Given the description of an element on the screen output the (x, y) to click on. 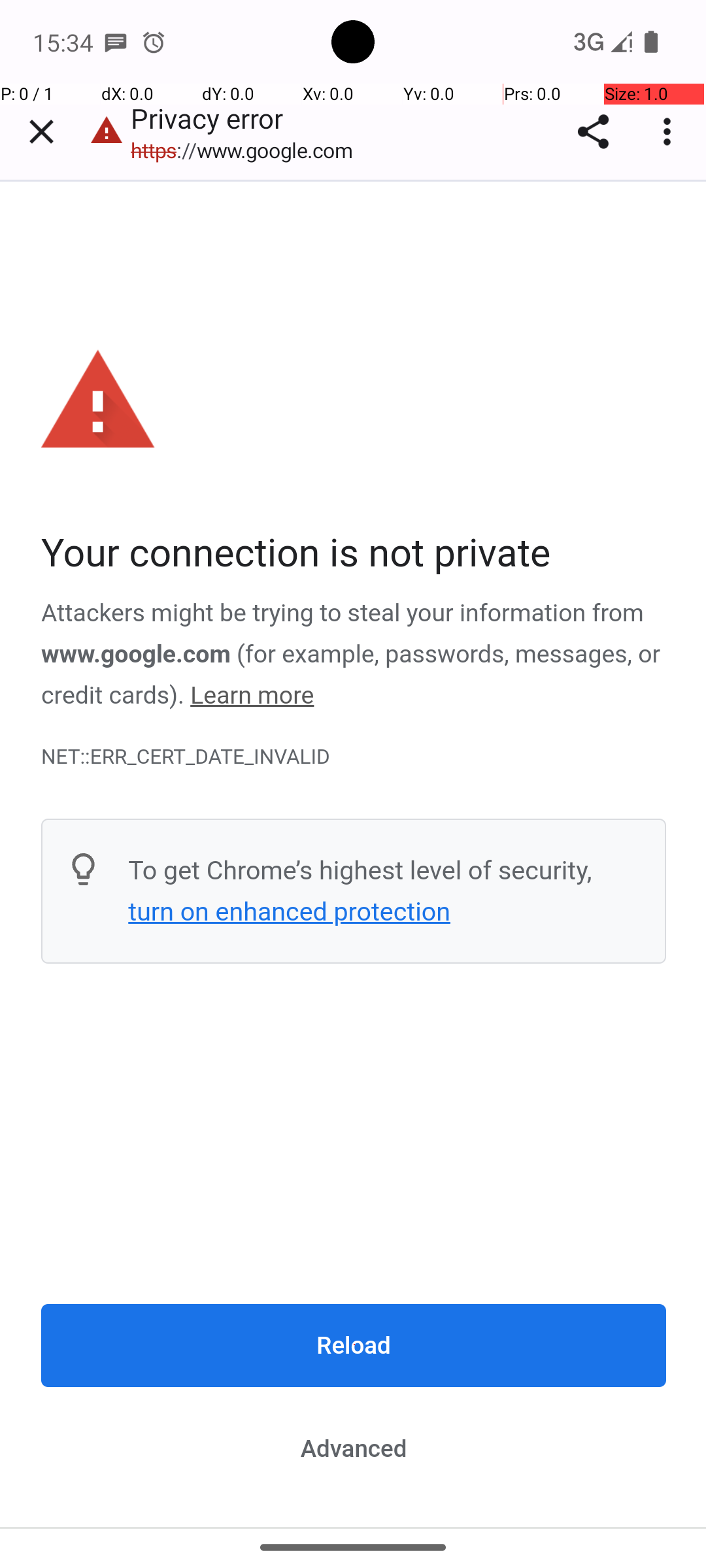
https://www.google.com Element type: android.widget.TextView (248, 149)
www.google.com Element type: android.widget.TextView (136, 653)
